Given the description of an element on the screen output the (x, y) to click on. 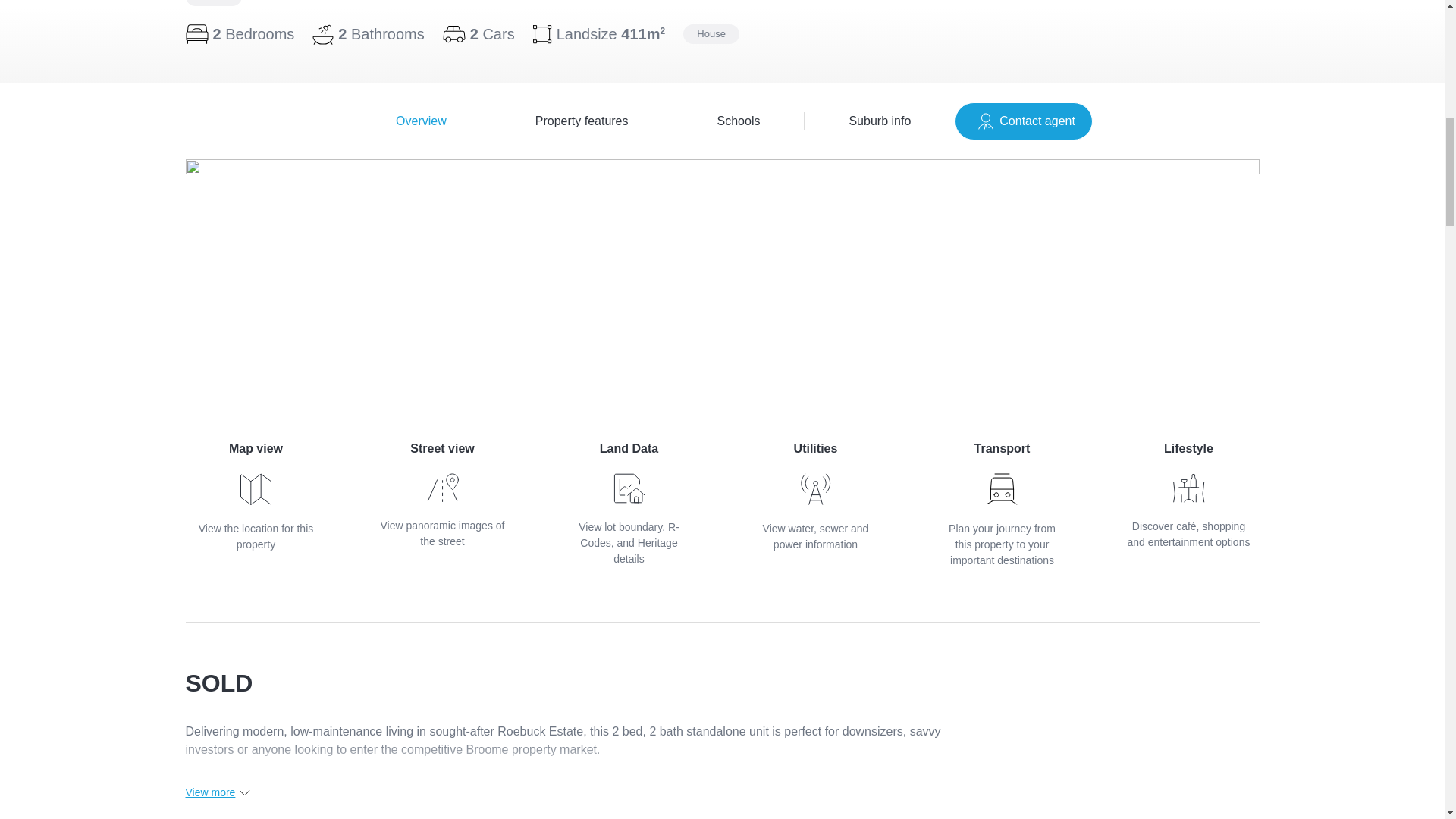
Property features (582, 121)
Schools (255, 496)
Suburb info (738, 121)
Overview (627, 503)
Contact agent (814, 496)
